Given the description of an element on the screen output the (x, y) to click on. 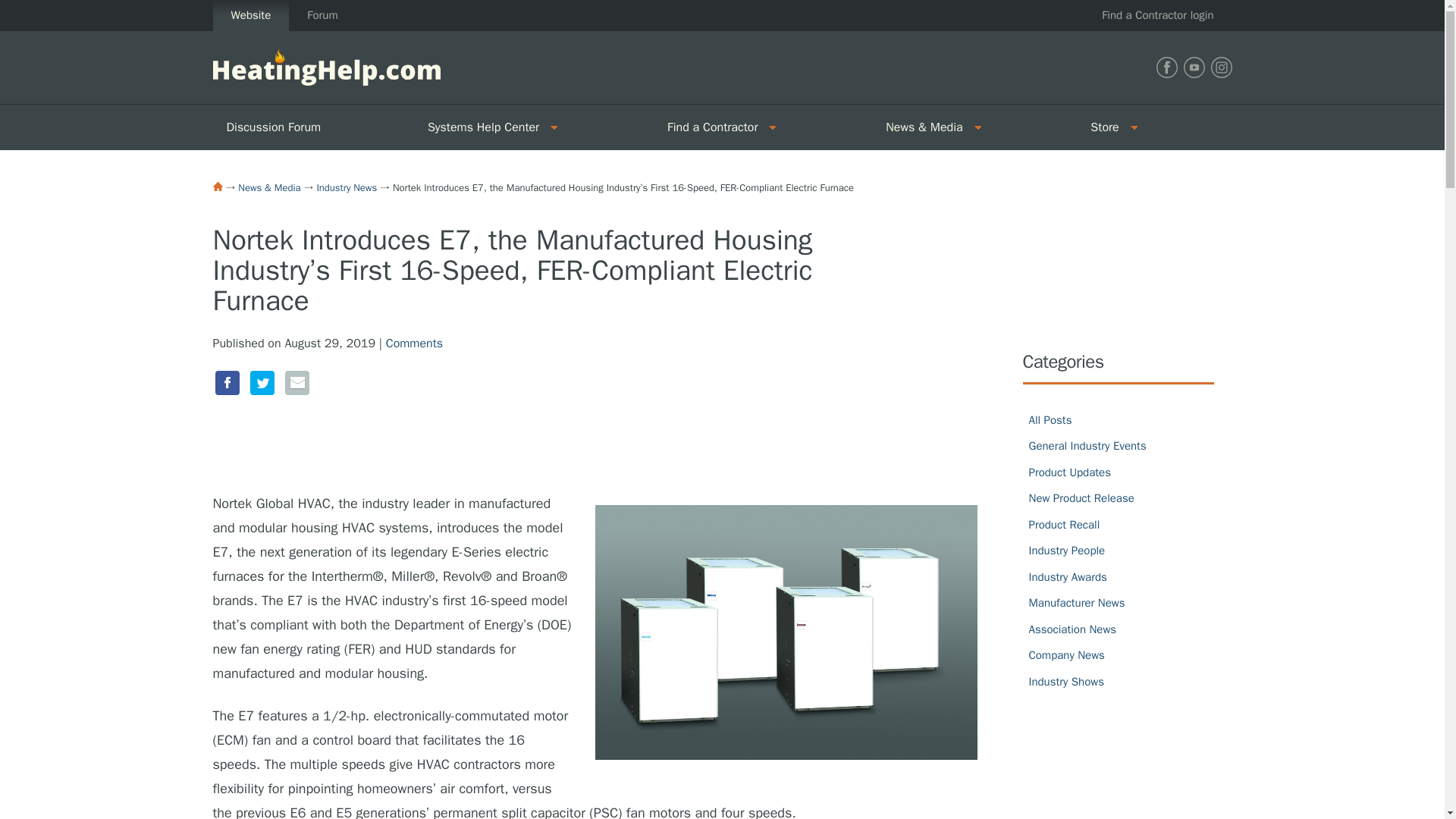
Find Heating Help on Youtube (1193, 66)
Skip to Content (40, 9)
Find a Contractor login (1157, 15)
Discussion Forum (312, 126)
Website (250, 15)
Find Heating Help on Facebook (1166, 66)
Find Heating Help on Instagram (1220, 66)
Systems Help Center (478, 126)
Home (217, 185)
Forum (321, 15)
